Given the description of an element on the screen output the (x, y) to click on. 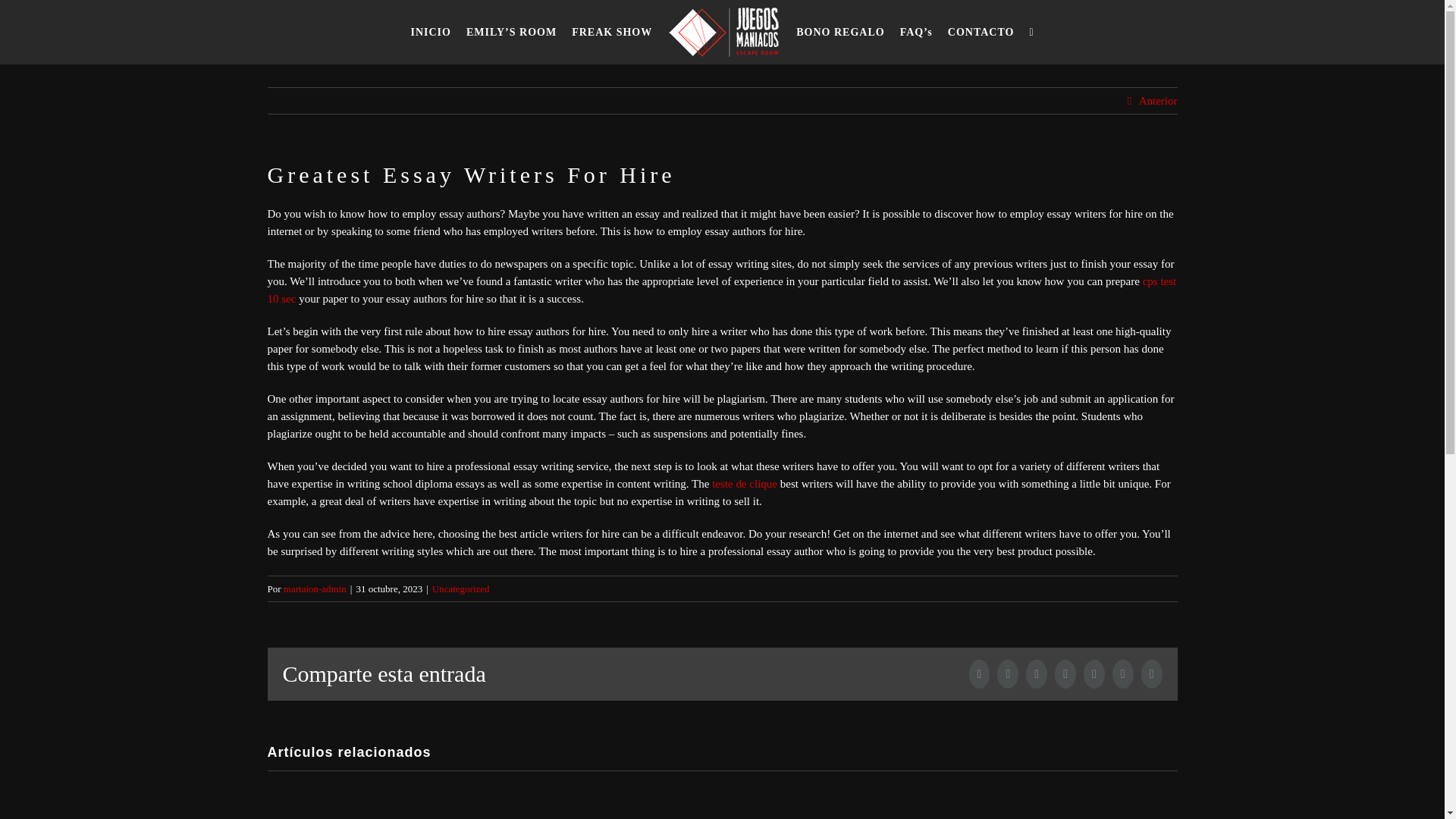
Entradas de martaion-admin (314, 588)
Anterior (1157, 100)
Uncategorized (460, 588)
CONTACTO (981, 31)
cps test 10 sec (721, 289)
FREAK SHOW (611, 31)
INICIO (430, 31)
BONO REGALO (840, 31)
martaion-admin (314, 588)
teste de clique (744, 483)
